Given the description of an element on the screen output the (x, y) to click on. 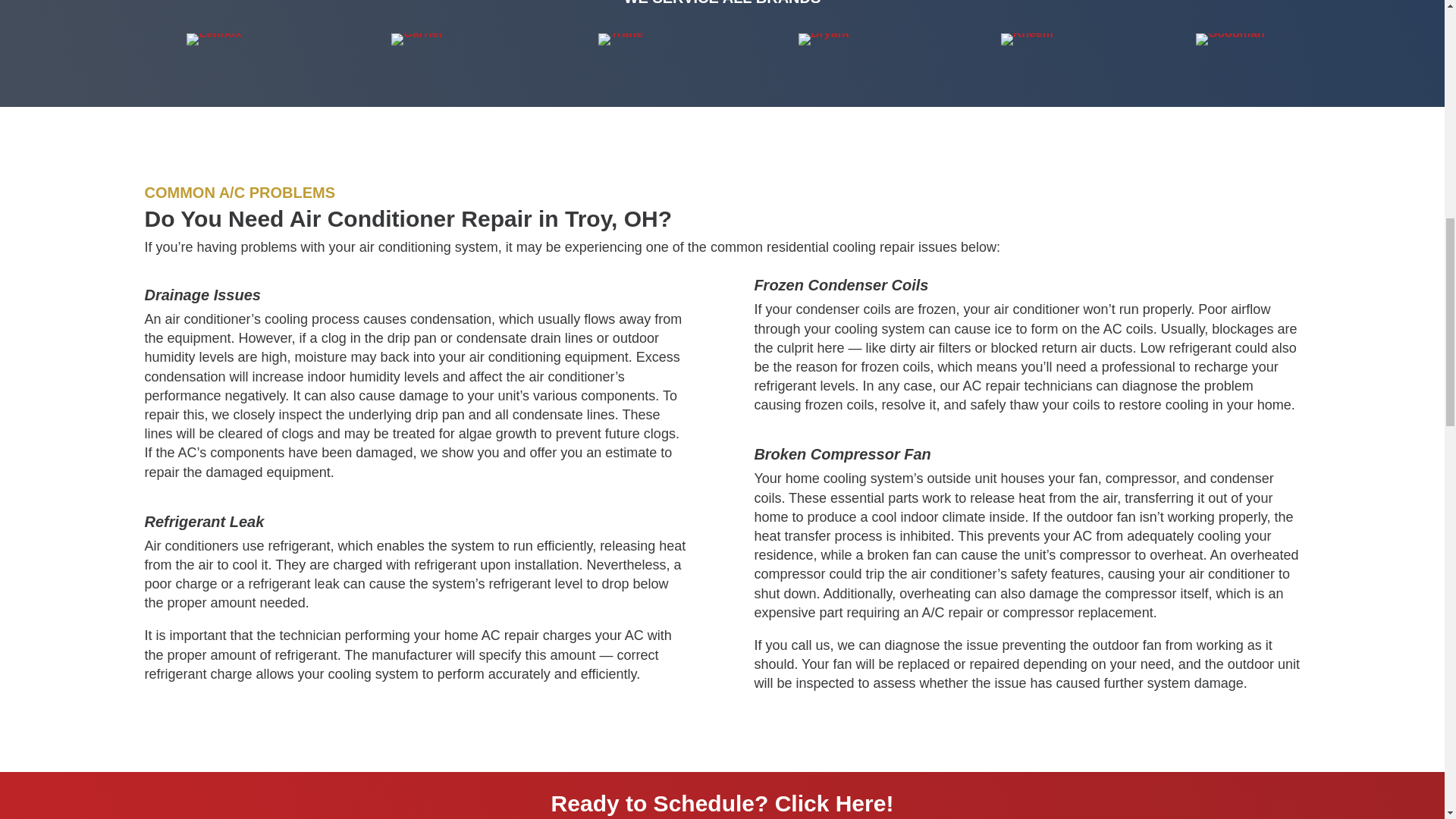
Lennox (213, 39)
Rheem (1026, 39)
Bryant (822, 39)
Trane (620, 39)
Goodman (1230, 39)
Carrier (416, 39)
